Given the description of an element on the screen output the (x, y) to click on. 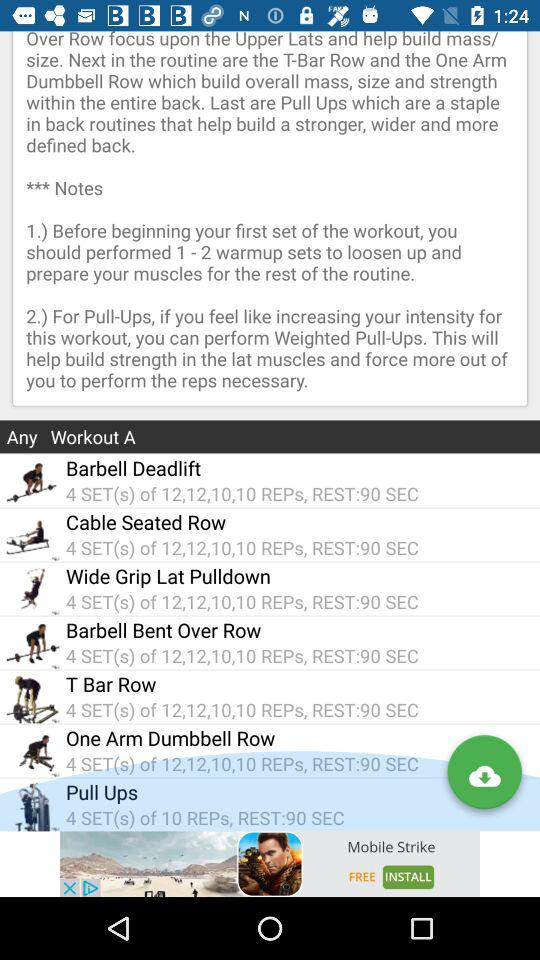
download content (484, 775)
